Given the description of an element on the screen output the (x, y) to click on. 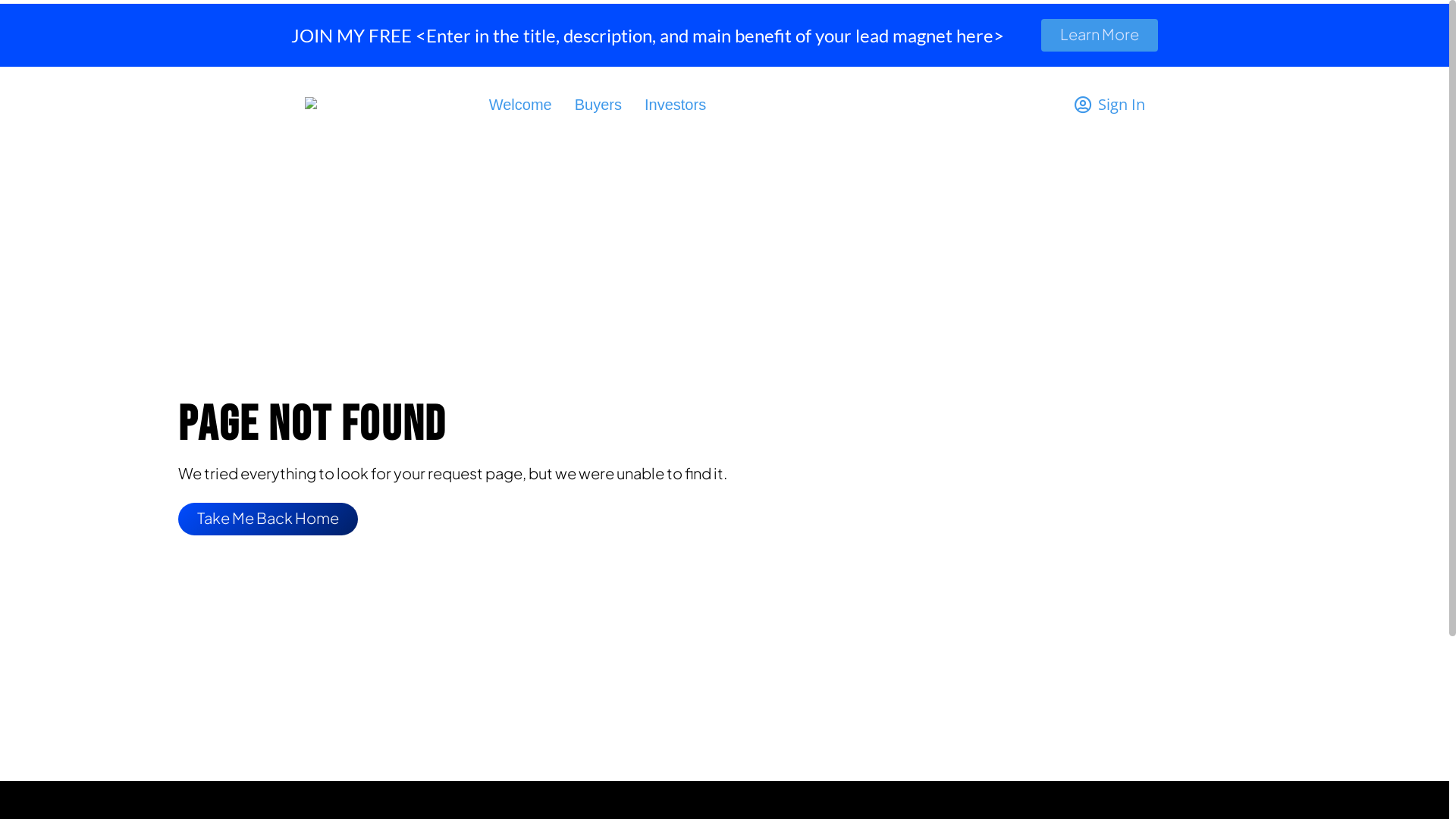
Investors Element type: text (675, 105)
Learn More Element type: text (1099, 34)
Buyers Element type: text (597, 105)
Sign In Element type: text (1108, 104)
Welcome Element type: text (520, 105)
Take Me Back Home Element type: text (267, 518)
